Given the description of an element on the screen output the (x, y) to click on. 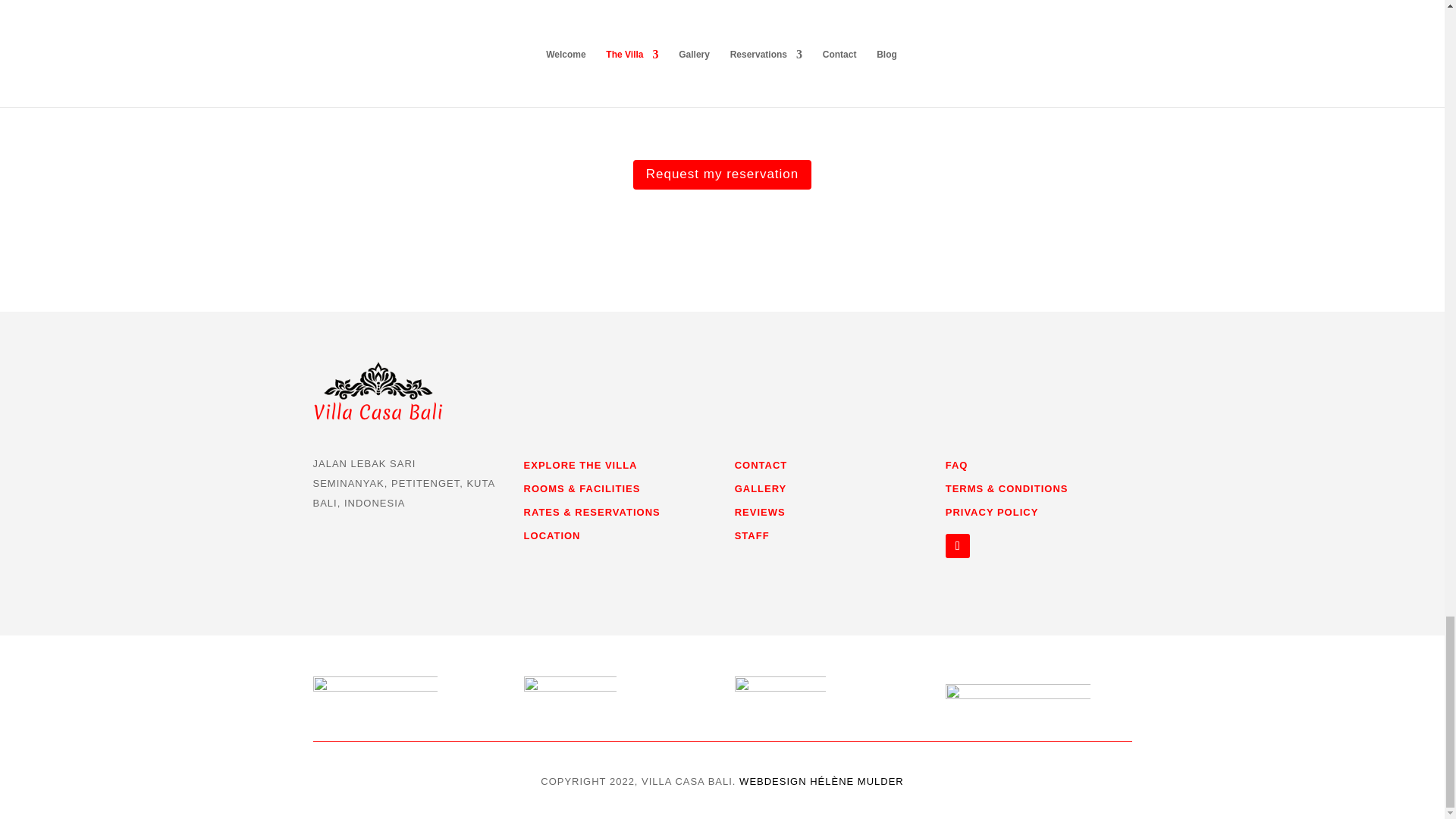
CONTACT (761, 464)
STAFF (752, 535)
REVIEWS (760, 511)
Request my reservation (722, 174)
LOCATION (552, 535)
Villa Casa Bali Logo (377, 390)
GALLERY (761, 488)
Follow on Instagram (956, 545)
vrbo (780, 691)
EXPLORE THE VILLA (580, 464)
